Given the description of an element on the screen output the (x, y) to click on. 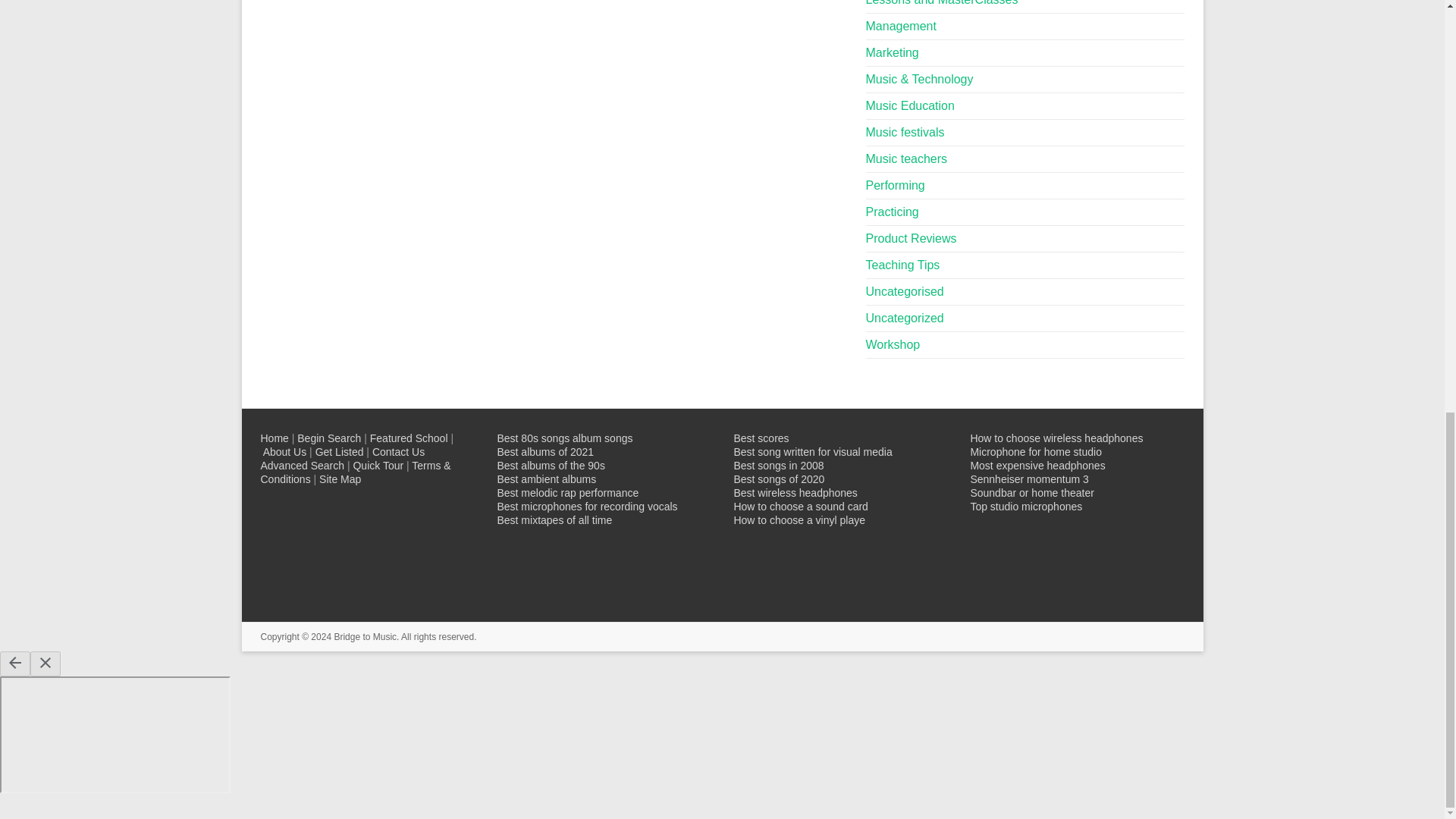
Management (901, 25)
Music Education (910, 105)
Bridge to Music (364, 636)
Performing (895, 185)
Marketing (892, 51)
Music teachers (906, 158)
Music festivals (905, 132)
Lessons and MasterClasses (941, 2)
Practicing (892, 211)
